Given the description of an element on the screen output the (x, y) to click on. 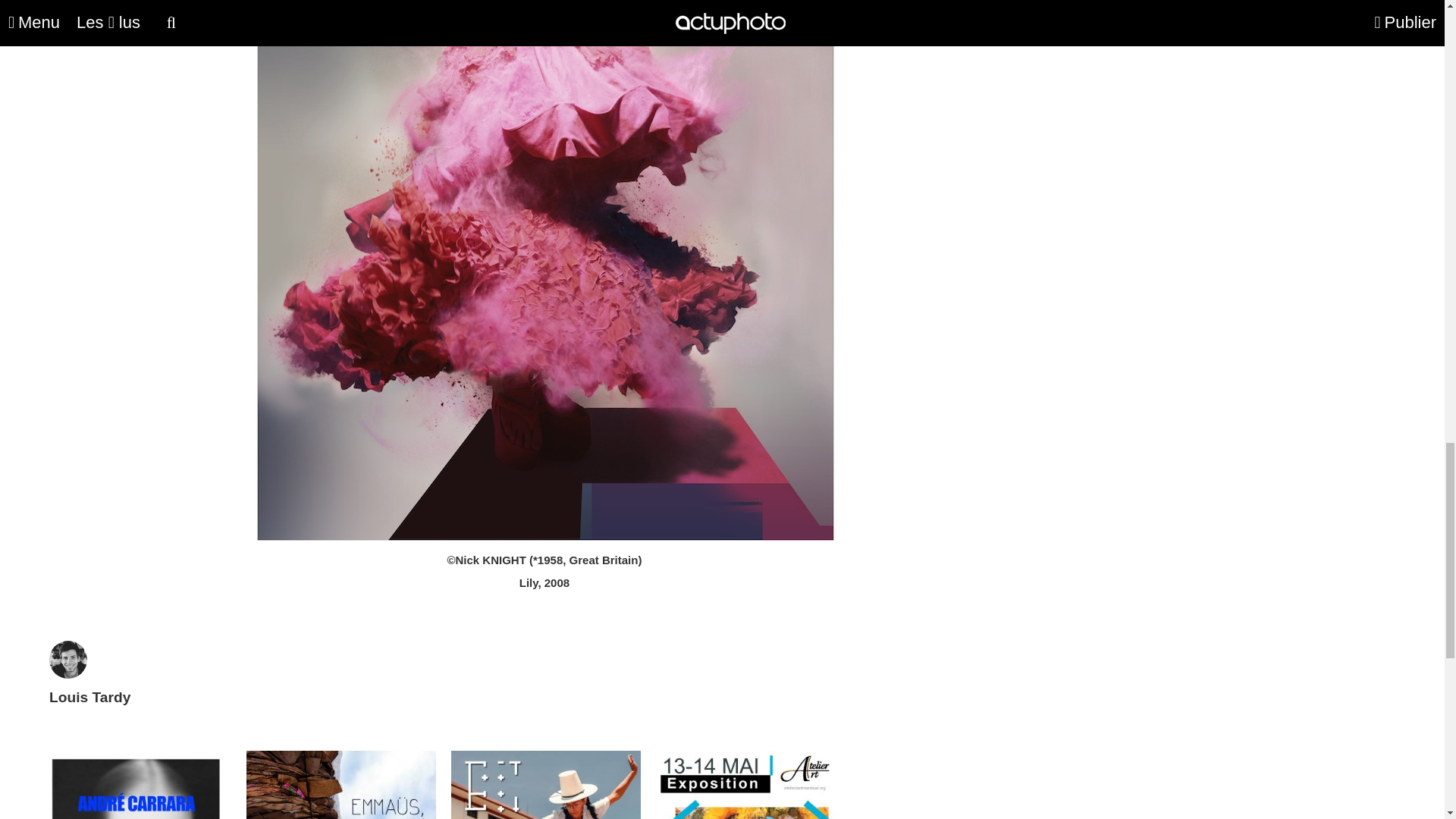
exposition de photographies (750, 785)
11e saison photographique de la Sarthe (545, 785)
Louis Tardy (90, 685)
Quatre Regards sur la Photographie de Mode (136, 785)
